Given the description of an element on the screen output the (x, y) to click on. 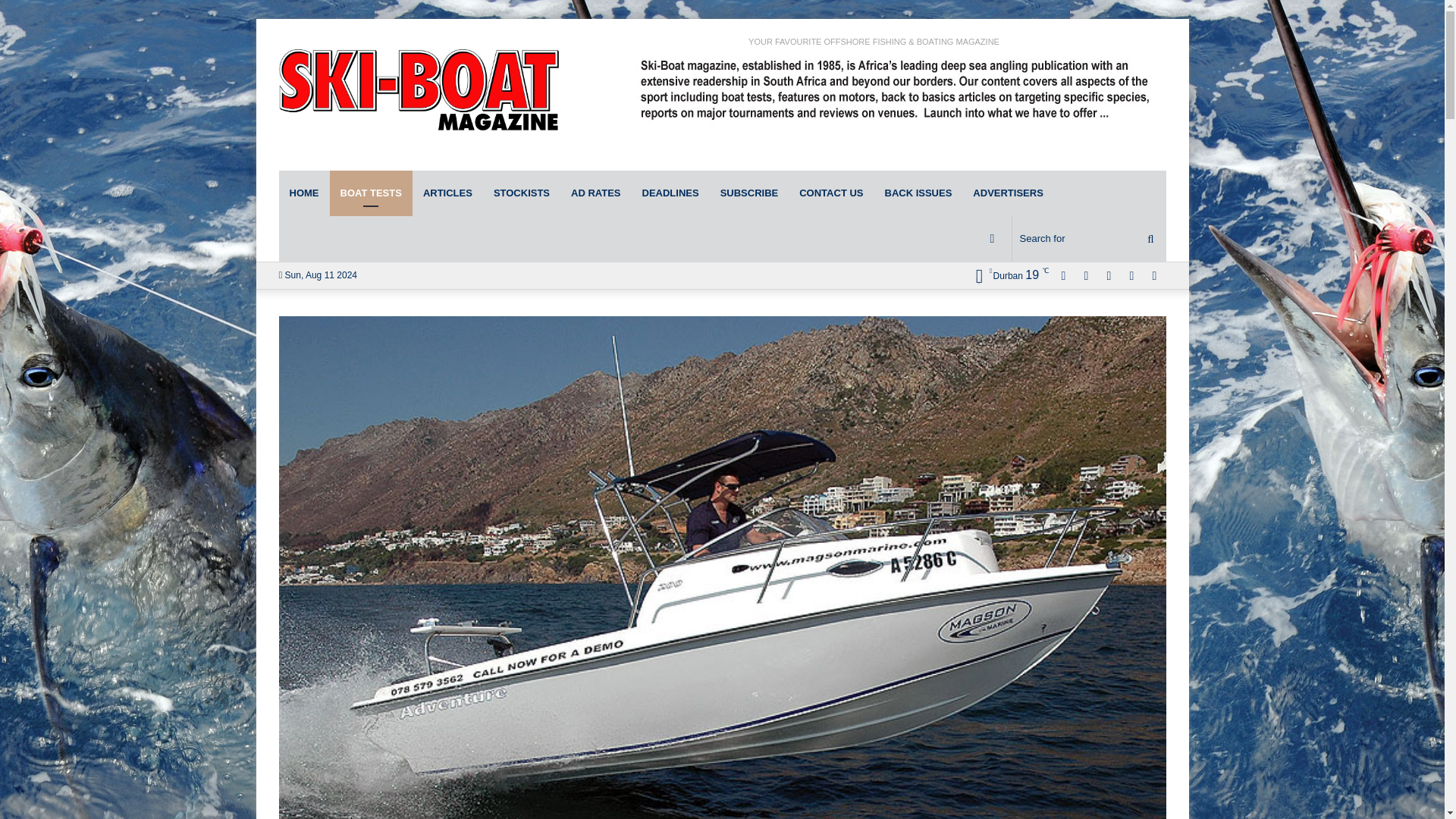
BOAT TESTS (370, 193)
CONTACT US (831, 193)
Light Rain (1007, 275)
STOCKISTS (521, 193)
SUBSCRIBE (749, 193)
Search for (1088, 238)
ARTICLES (447, 193)
BACK ISSUES (917, 193)
Angler Publications (419, 94)
AD RATES (595, 193)
